Given the description of an element on the screen output the (x, y) to click on. 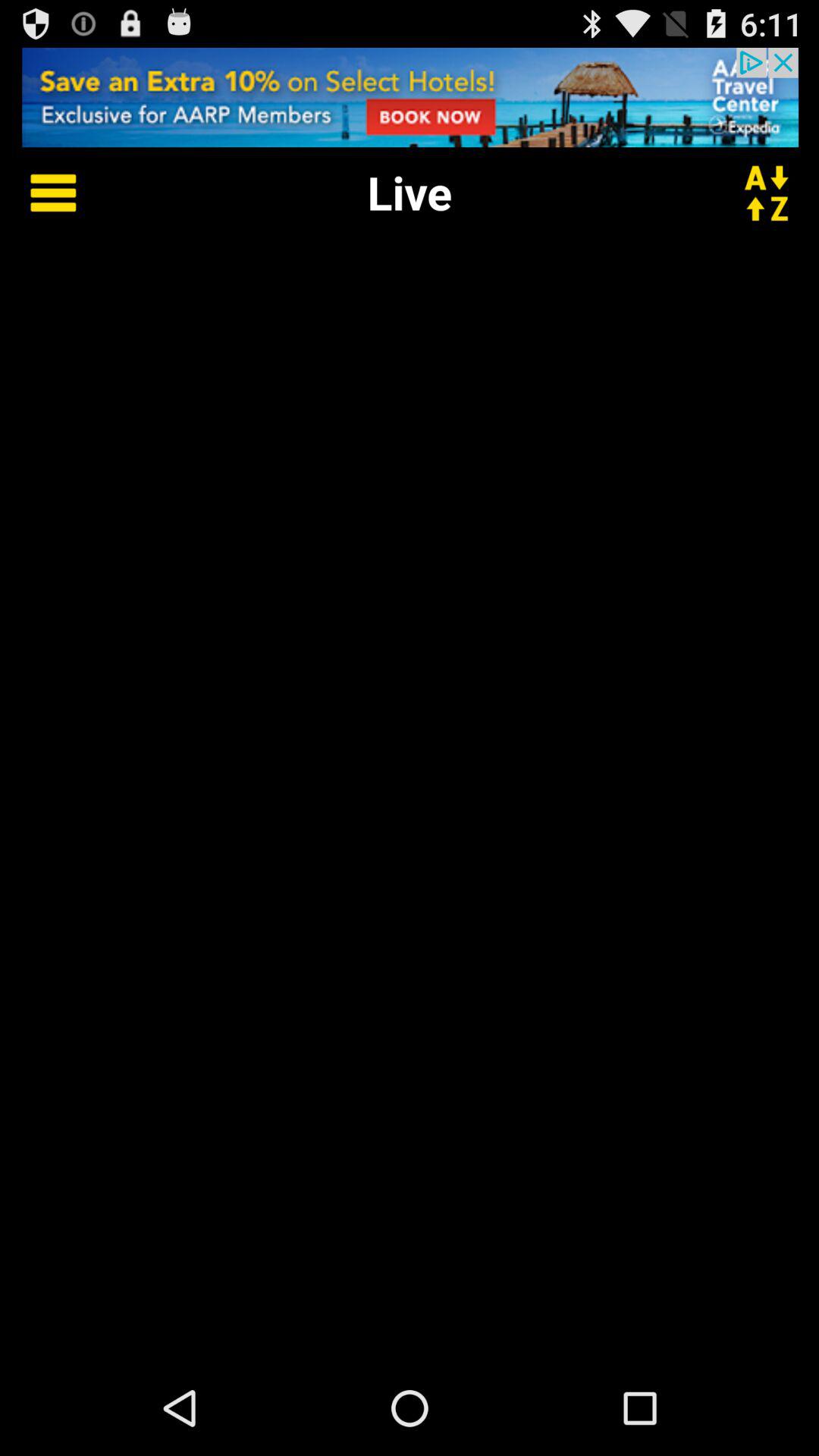
open options menu (42, 192)
